Given the description of an element on the screen output the (x, y) to click on. 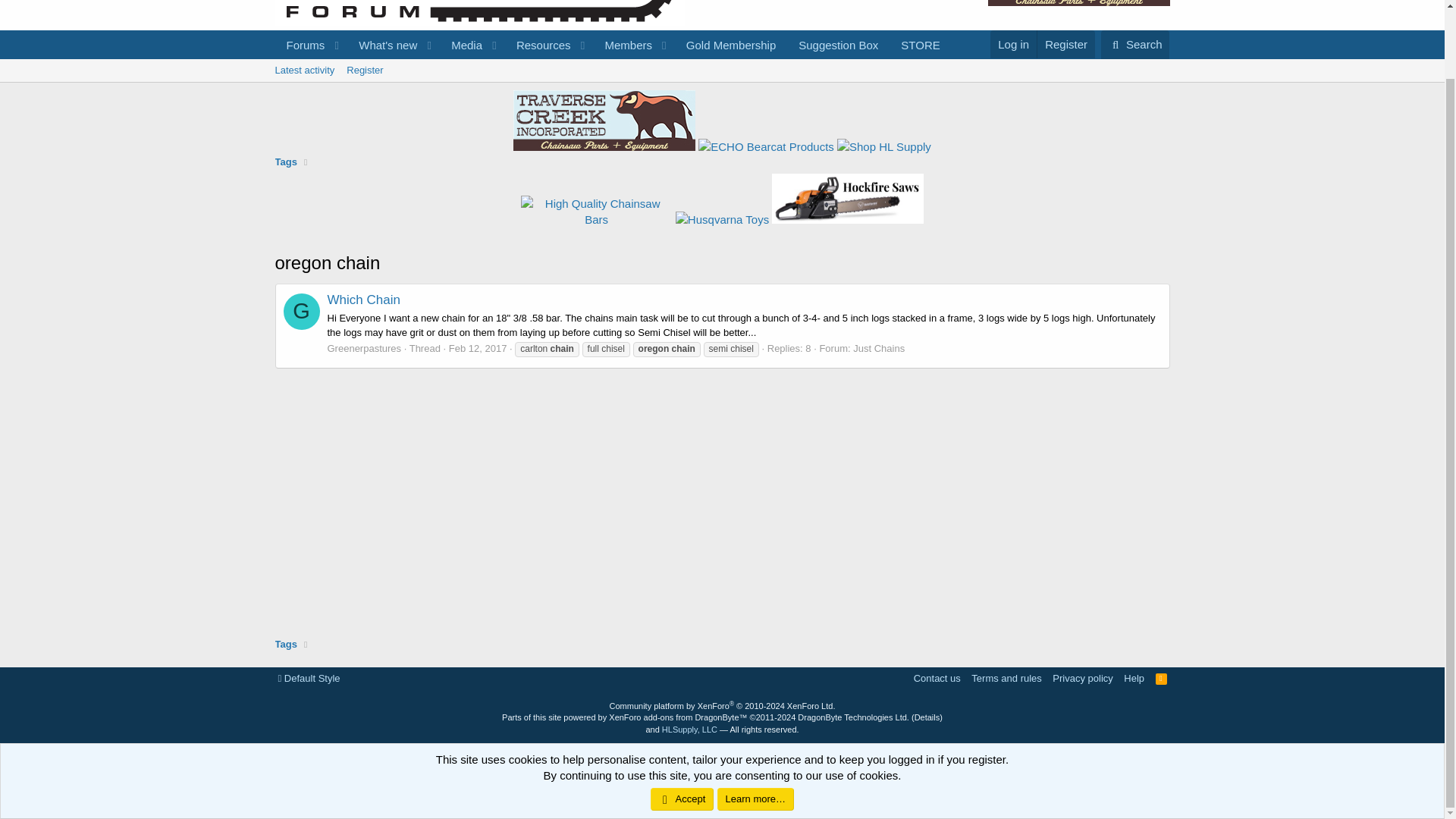
Search (1135, 44)
Gold Membership (731, 44)
STORE (919, 44)
Register (1065, 44)
Latest activity (303, 69)
Log in (1013, 44)
Forums (300, 44)
What's new (383, 44)
Greenerpastures (301, 311)
RSS (1161, 677)
Resources (720, 87)
Feb 12, 2017 at 8:33 AM (538, 44)
